Given the description of an element on the screen output the (x, y) to click on. 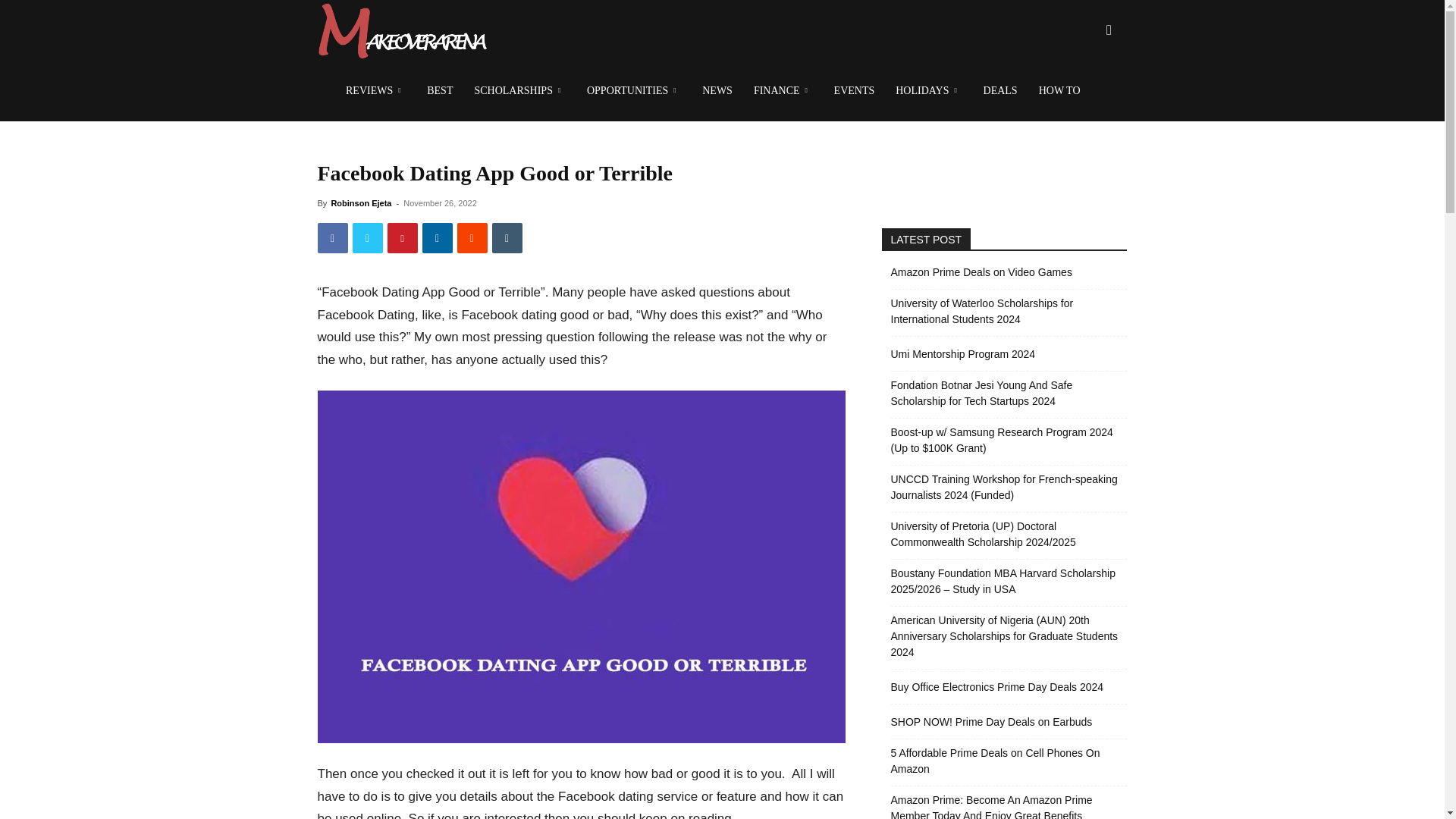
Facebook (332, 237)
ReddIt (471, 237)
Pinterest (401, 237)
Twitter (366, 237)
Tumblr (506, 237)
Linkedin (436, 237)
